Given the description of an element on the screen output the (x, y) to click on. 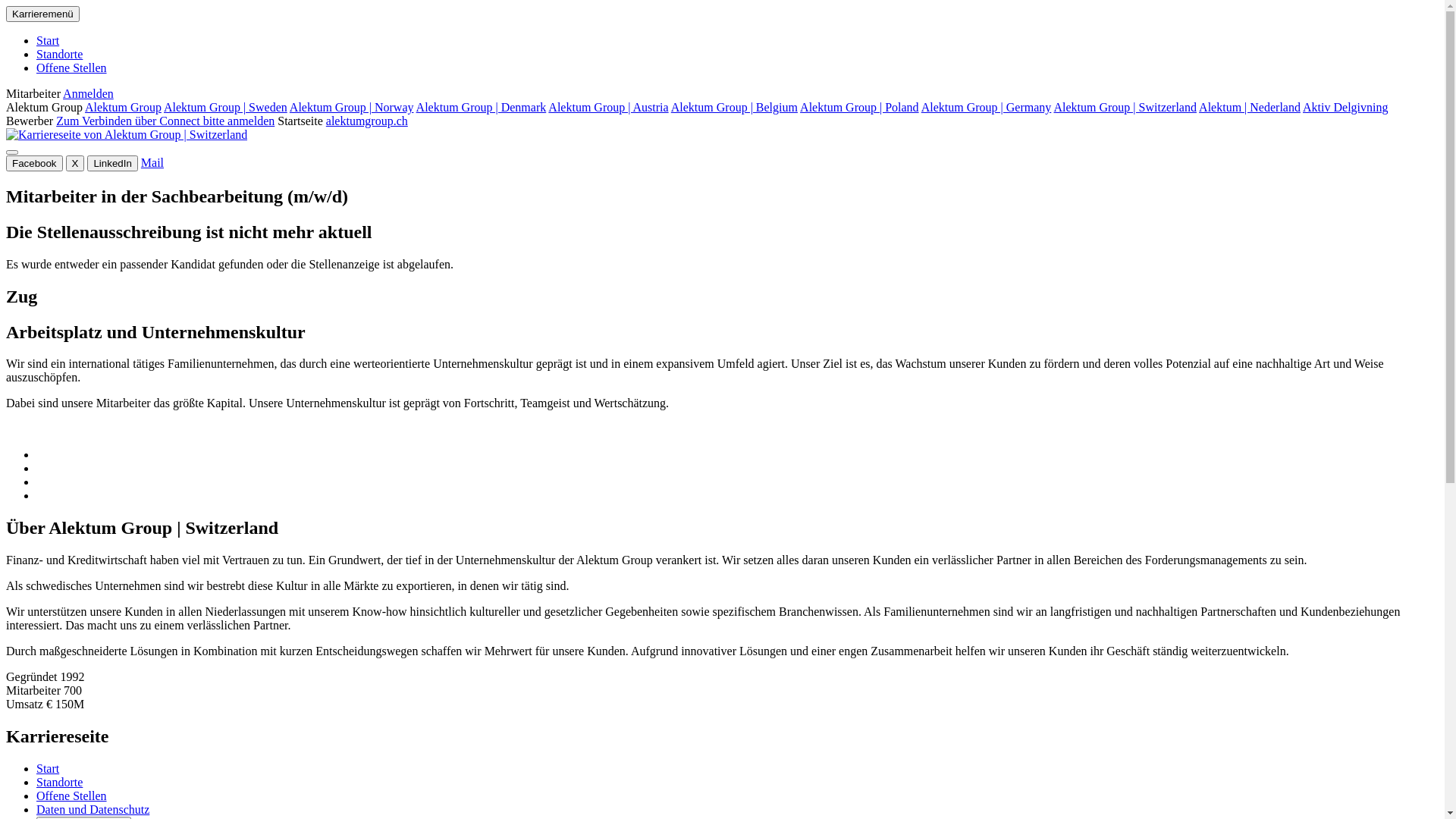
Alektum Group | Austria Element type: text (608, 106)
Alektum Group | Norway Element type: text (351, 106)
Daten und Datenschutz Element type: text (92, 809)
Seite teilen Element type: hover (12, 152)
Alektum Group | Switzerland Element type: text (1124, 106)
Standorte Element type: text (59, 781)
Offene Stellen Element type: text (71, 795)
Aktiv Delgivning Element type: text (1344, 106)
Alektum Group Element type: text (122, 106)
Mail Element type: text (152, 162)
Offene Stellen Element type: text (71, 67)
Standorte Element type: text (59, 53)
LinkedIn Element type: text (112, 163)
Start Element type: text (47, 768)
Start Element type: text (47, 40)
Alektum Group | Germany Element type: text (986, 106)
Facebook Element type: text (34, 163)
Alektum | Nederland Element type: text (1249, 106)
Alektum Group | Poland Element type: text (859, 106)
Alektum Group | Denmark Element type: text (481, 106)
Alektum Group | Belgium Element type: text (734, 106)
X Element type: text (74, 163)
Alektum Group | Sweden Element type: text (225, 106)
alektumgroup.ch Element type: text (366, 120)
Anmelden Element type: text (87, 93)
